Given the description of an element on the screen output the (x, y) to click on. 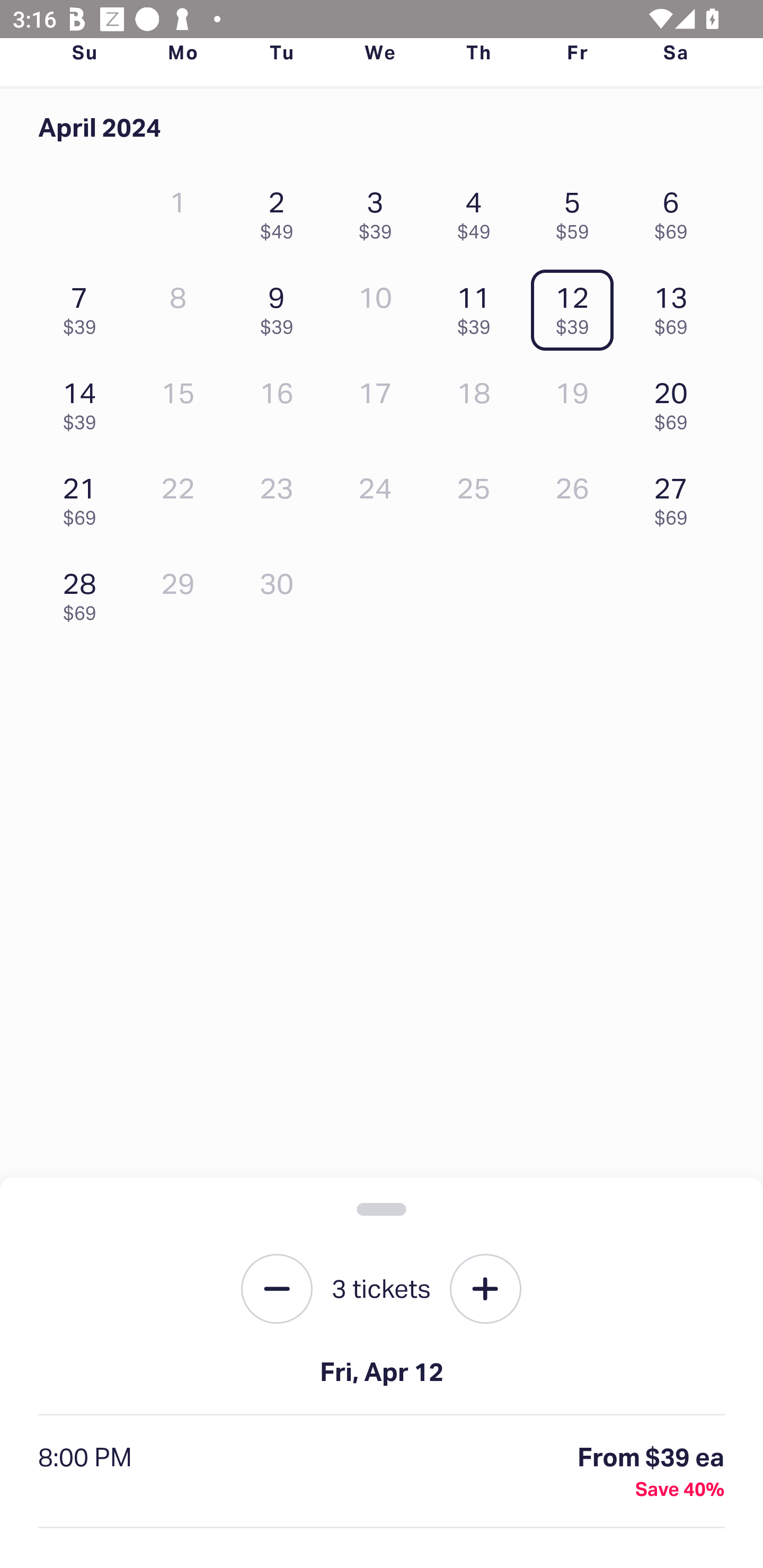
2 $49 (281, 210)
3 $39 (379, 210)
4 $49 (478, 210)
5 $59 (577, 210)
6 $69 (675, 210)
7 $39 (84, 306)
9 $39 (281, 306)
11 $39 (478, 306)
12 $39 (577, 306)
13 $69 (675, 306)
14 $39 (84, 401)
20 $69 (675, 401)
21 $69 (84, 496)
27 $69 (675, 496)
28 $69 (84, 591)
8:00 PM From $39 ea Save 40% (381, 1471)
